Given the description of an element on the screen output the (x, y) to click on. 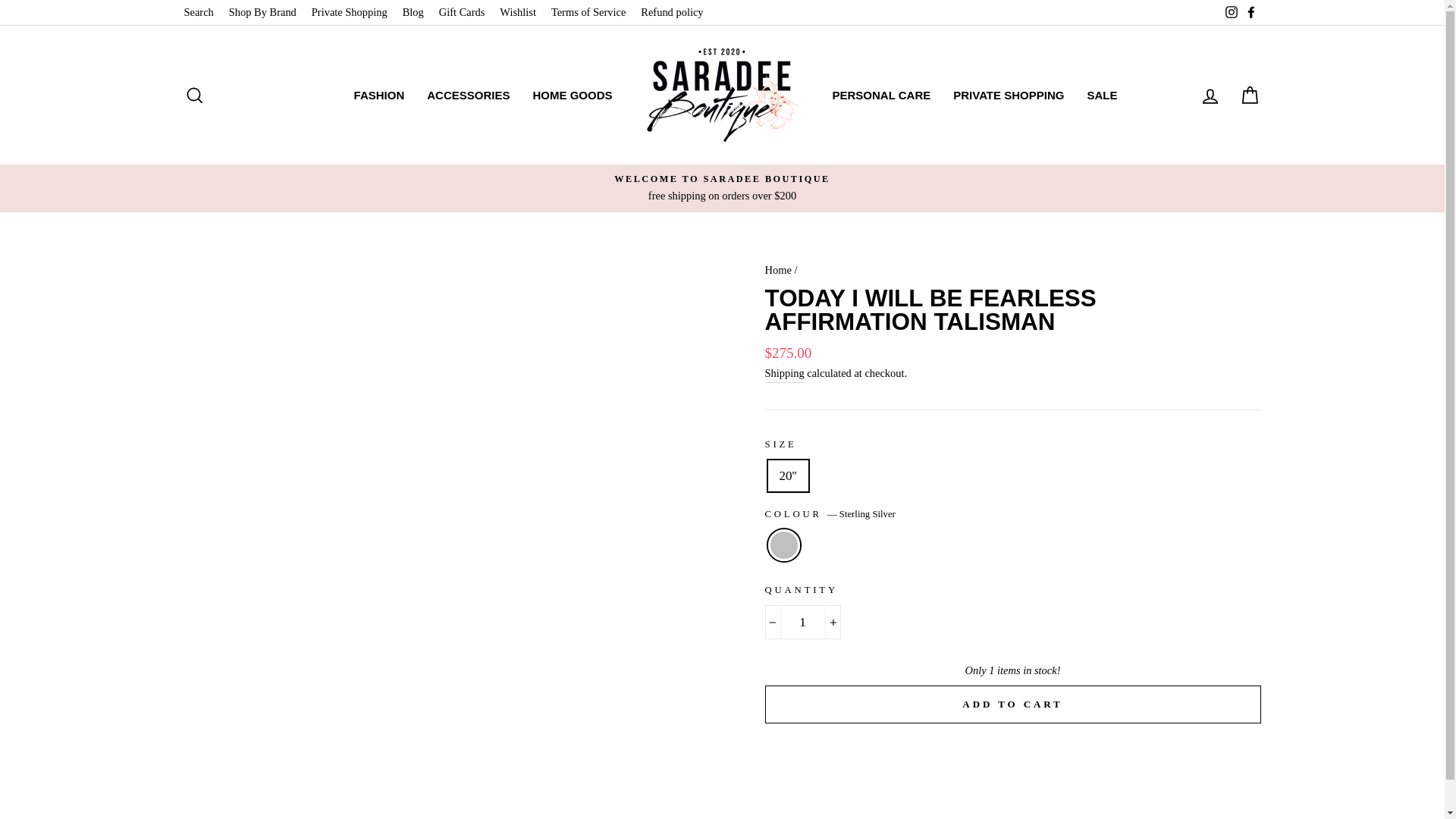
Back to the frontpage (777, 269)
1 (802, 622)
